Given the description of an element on the screen output the (x, y) to click on. 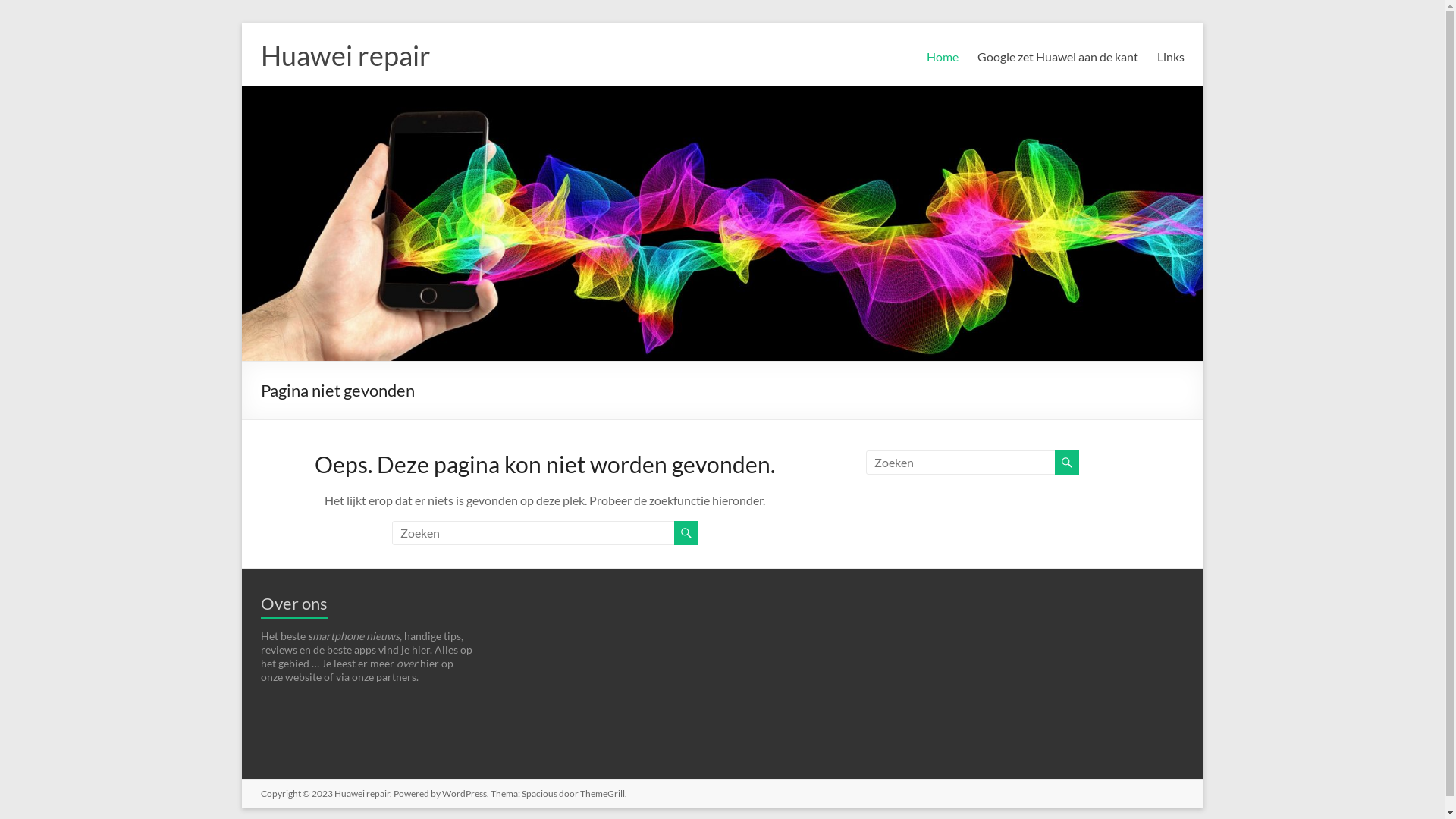
Huawei repair Element type: text (361, 793)
WordPress Element type: text (463, 793)
Huawei repair Element type: text (345, 55)
ThemeGrill Element type: text (601, 793)
Home Element type: text (942, 60)
Links Element type: text (1170, 60)
Google zet Huawei aan de kant Element type: text (1056, 60)
